Given the description of an element on the screen output the (x, y) to click on. 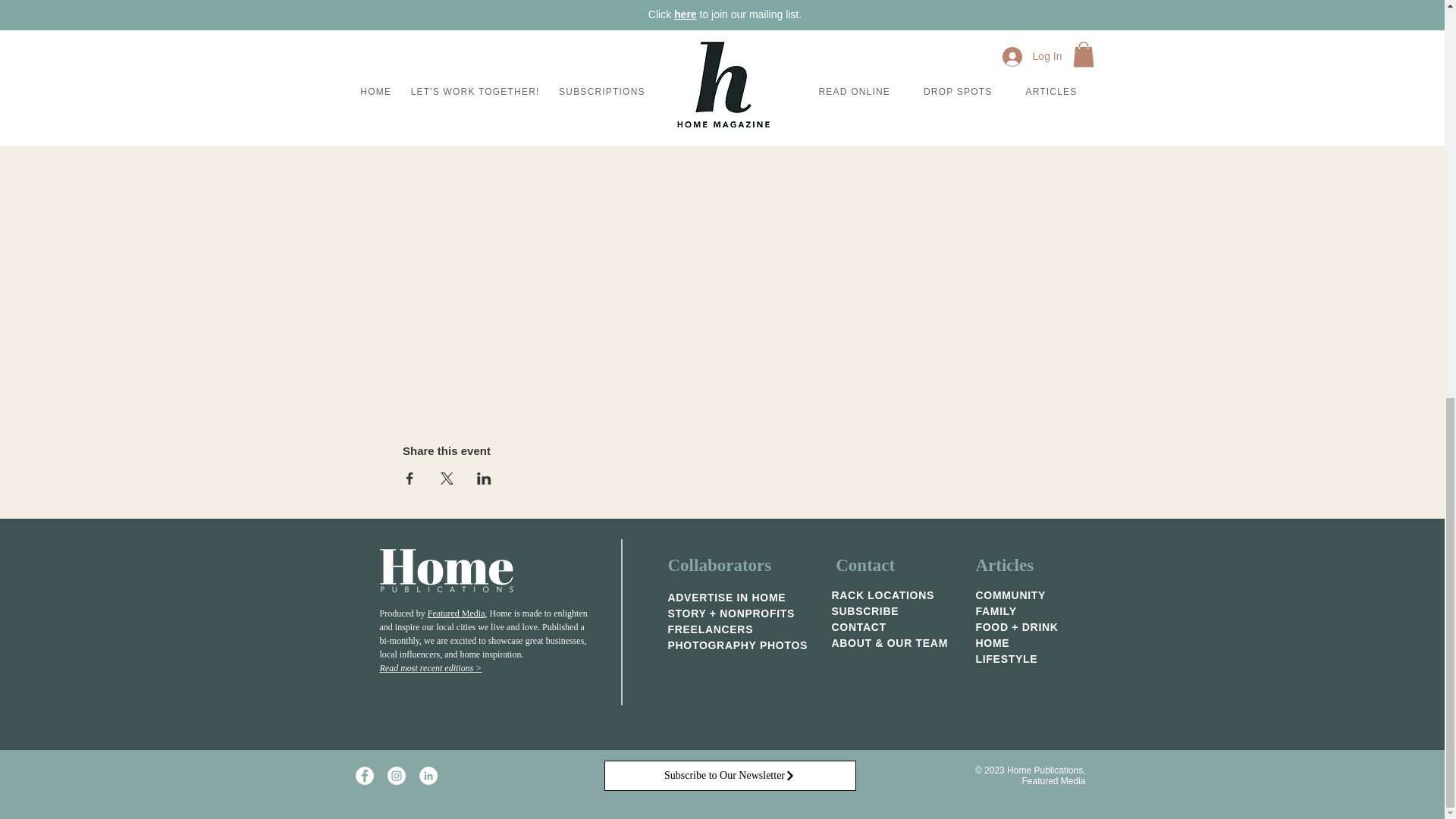
RACK LOCATIONS (882, 594)
FREELANCERS (709, 629)
Featured Media (456, 613)
COMMUNITY (1010, 594)
PHOTOGRAPHY PHOTOS (737, 645)
ADVERTISE IN HOME (726, 597)
CONTACT (858, 626)
FAMILY (995, 611)
LIFESTYLE (1005, 658)
HOME (992, 643)
